Given the description of an element on the screen output the (x, y) to click on. 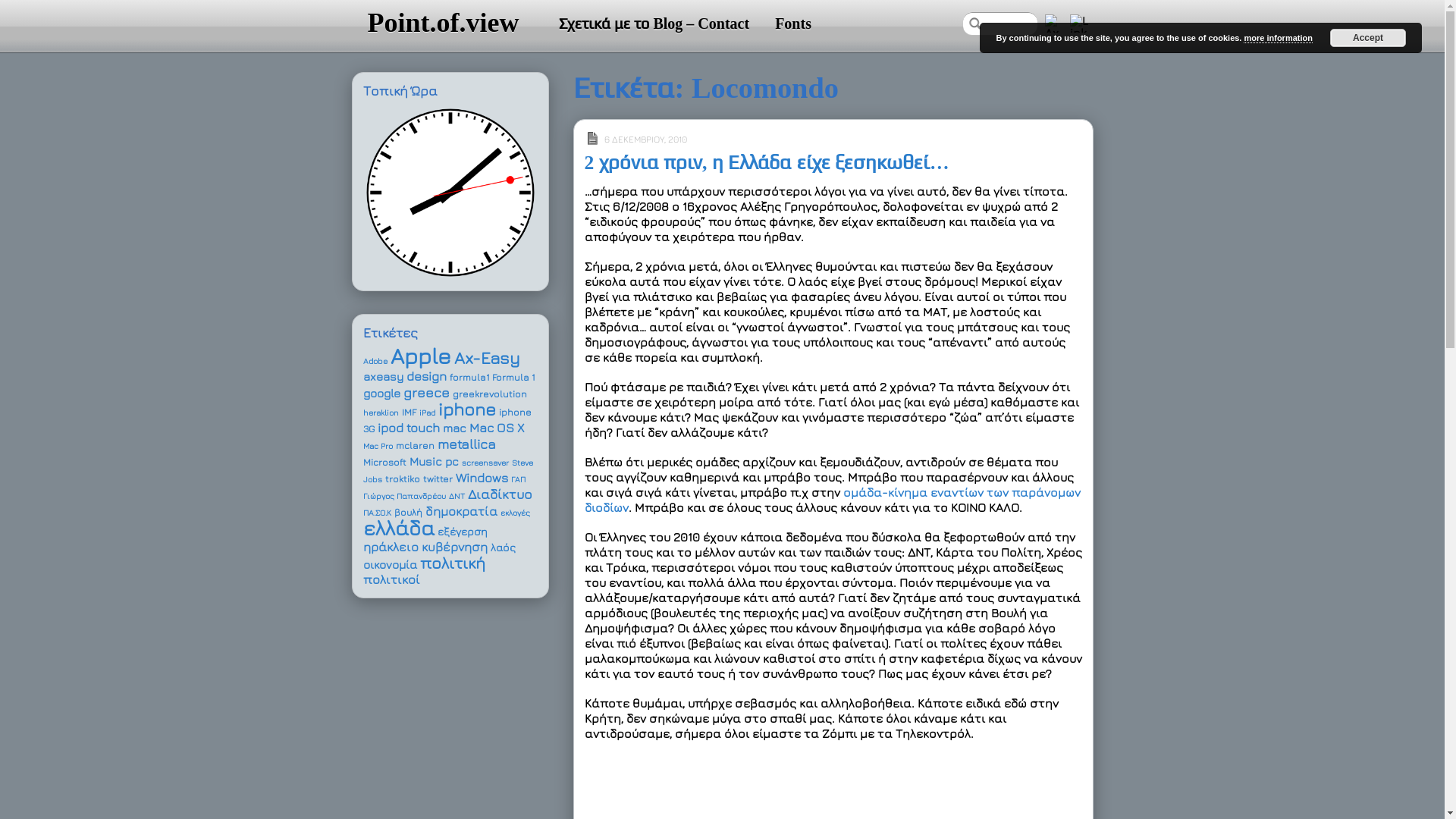
iphone Element type: text (466, 408)
IMF Element type: text (408, 411)
Windows Element type: text (481, 477)
mac Element type: text (454, 427)
more information Element type: text (1277, 38)
google Element type: text (380, 392)
greekrevolution Element type: text (488, 393)
formula1 Element type: text (468, 376)
Fonts Element type: text (793, 23)
twitter Element type: text (437, 478)
greece Element type: text (426, 392)
screensaver Element type: text (484, 462)
axeasy Element type: text (382, 375)
iphone 3G Element type: text (446, 420)
ipod touch Element type: text (408, 427)
metallica Element type: text (465, 443)
iPad Element type: text (426, 412)
Ax-Easy Element type: text (486, 357)
Accept Element type: text (1367, 37)
troktiko Element type: text (402, 478)
mclaren Element type: text (414, 445)
Mac OS X Element type: text (496, 427)
heraklion Element type: text (380, 412)
Search Element type: hover (1000, 23)
Adobe Element type: text (374, 360)
Mac Pro Element type: text (377, 445)
Music Element type: text (425, 460)
Point.of.view Element type: text (442, 22)
design Element type: text (426, 375)
Formula 1 Element type: text (512, 376)
Apple Element type: text (419, 355)
pc Element type: text (451, 460)
Microsoft Element type: text (383, 461)
Steve Jobs Element type: text (447, 470)
